Given the description of an element on the screen output the (x, y) to click on. 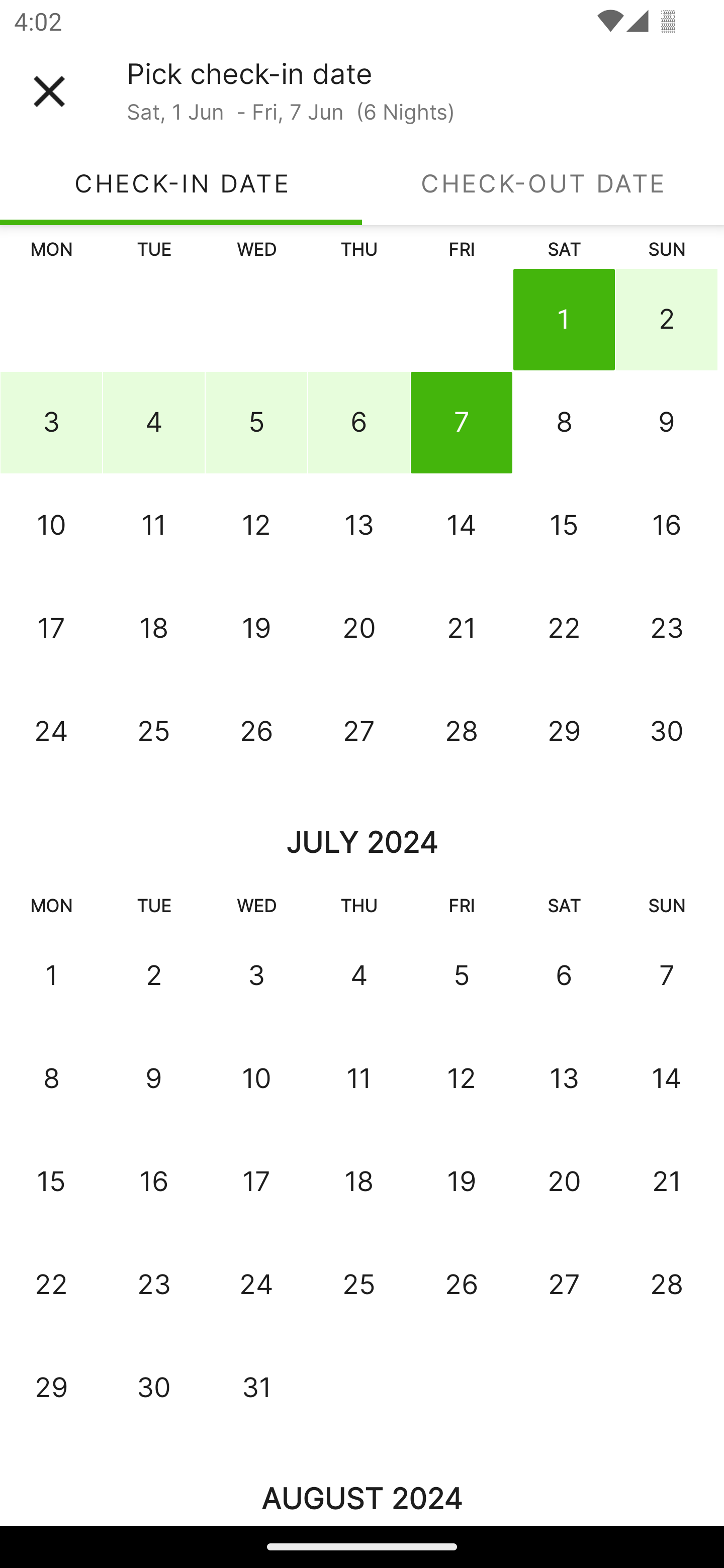
Check-out Date CHECK-OUT DATE (543, 183)
